Given the description of an element on the screen output the (x, y) to click on. 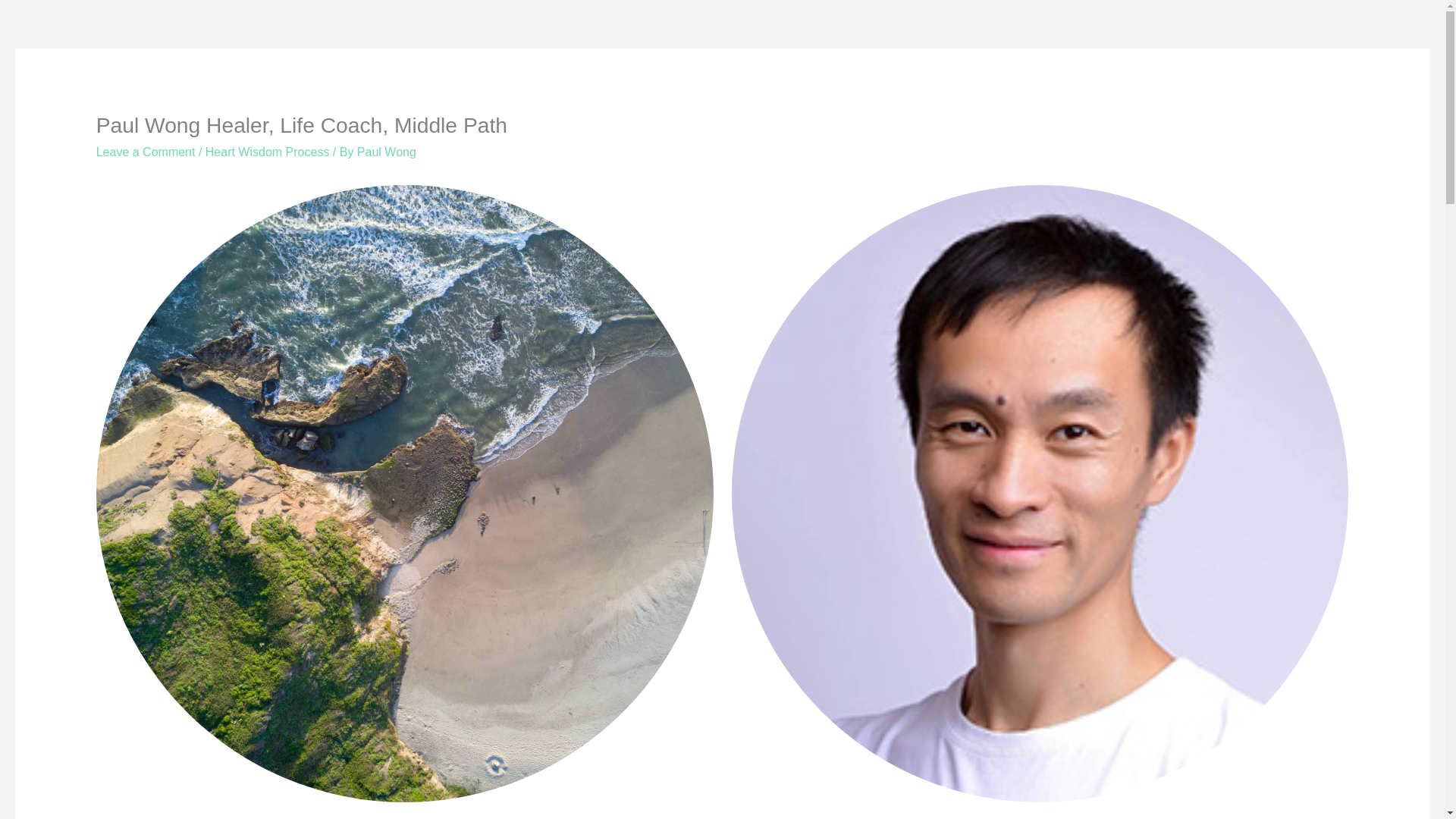
View all posts by Paul Wong (386, 151)
Paul Wong (386, 151)
Heart Wisdom Process (267, 151)
Leave a Comment (145, 151)
Chinese Energetics (303, 792)
